Given the description of an element on the screen output the (x, y) to click on. 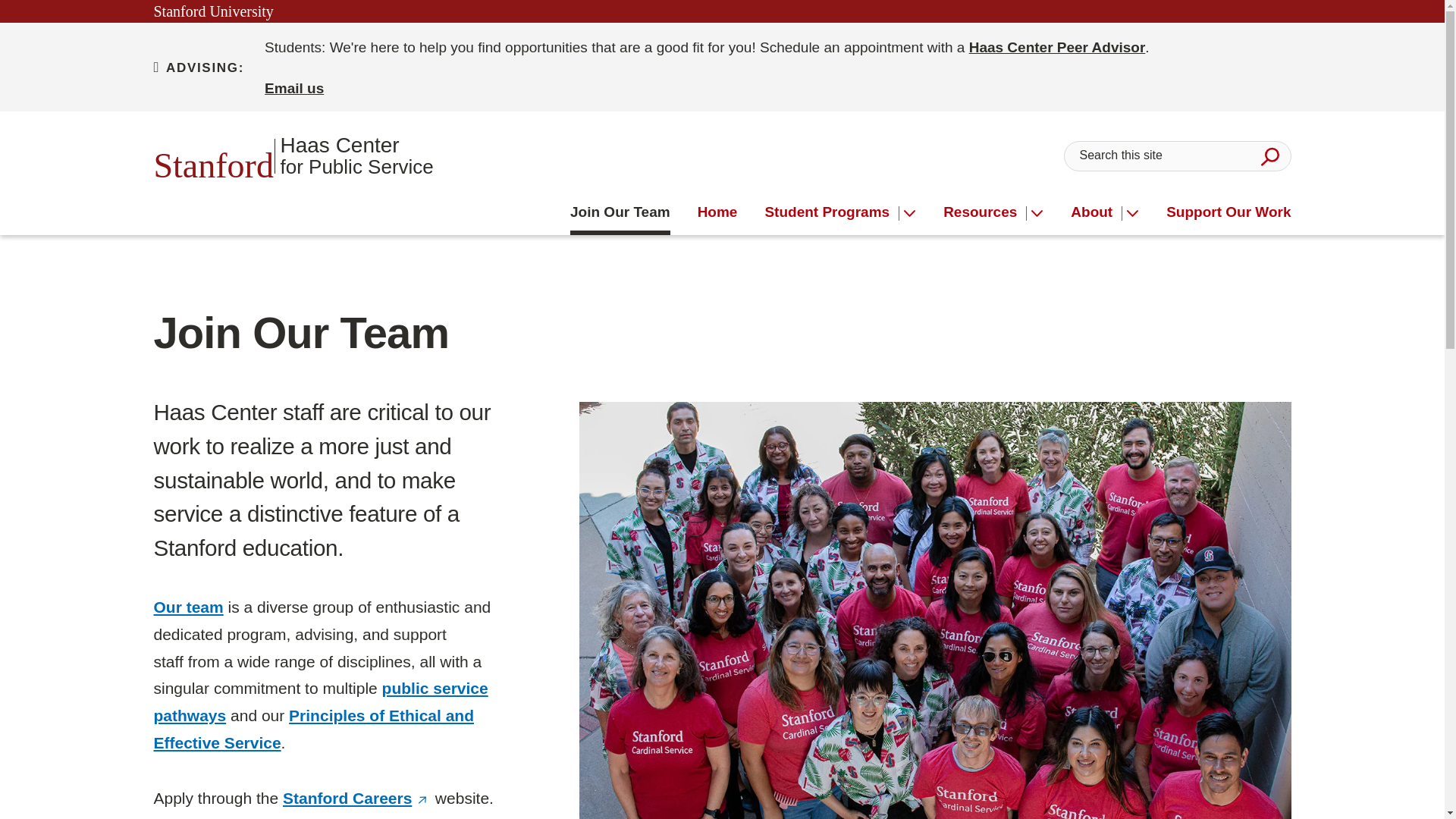
Haas Center Peer Advisor (1057, 47)
Student Programs (292, 155)
Join Our Team (831, 212)
Email us (619, 212)
Home (293, 88)
Haas Center service learning programs for students (717, 212)
Skip to main content (831, 212)
Pathways of Public Service and Civic Engagement (313, 728)
Submit Search (319, 701)
